Given the description of an element on the screen output the (x, y) to click on. 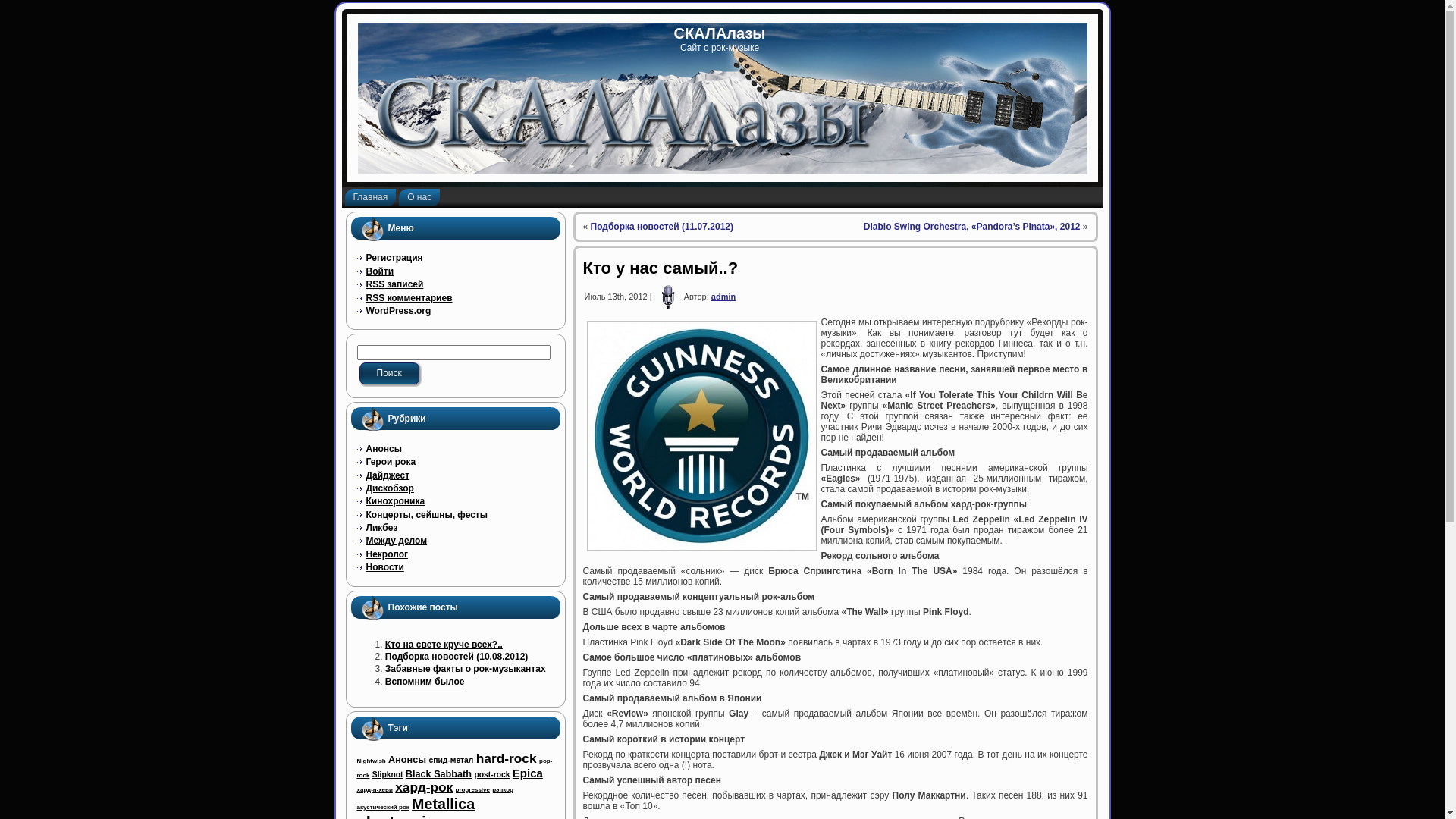
Nightwish Element type: text (370, 760)
Metallica Element type: text (442, 803)
WordPress.org Element type: text (397, 310)
post-rock Element type: text (491, 774)
admin Element type: text (723, 296)
Epica Element type: text (527, 772)
Slipknot Element type: text (387, 774)
pop-rock Element type: text (454, 767)
progressive Element type: text (472, 789)
hard-rock Element type: text (506, 757)
Black Sabbath Element type: text (438, 773)
